Given the description of an element on the screen output the (x, y) to click on. 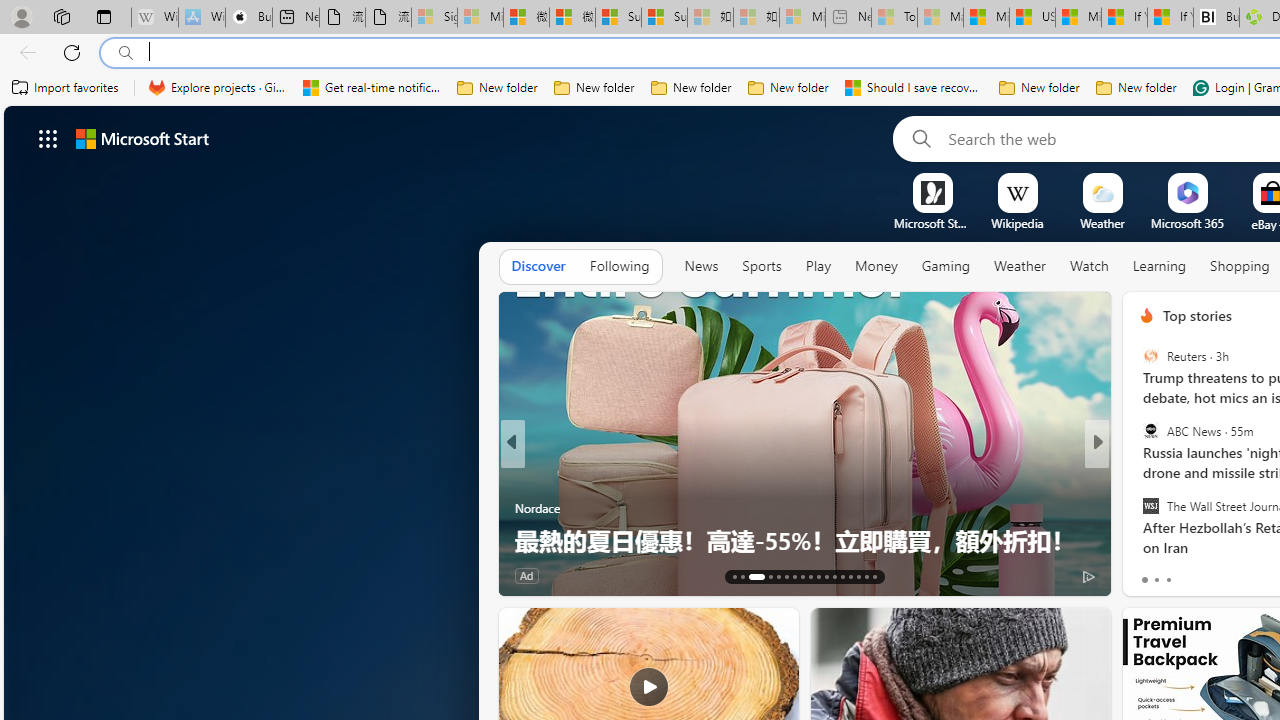
Kinda Frugal (1138, 475)
Watch (1089, 265)
Weather (1019, 267)
View comments 147 Comment (619, 575)
Reader's Digest (1138, 475)
Gaming (945, 265)
View comments 55 Comment (1234, 575)
AutomationID: tab-29 (874, 576)
ABC News (1149, 431)
